Given the description of an element on the screen output the (x, y) to click on. 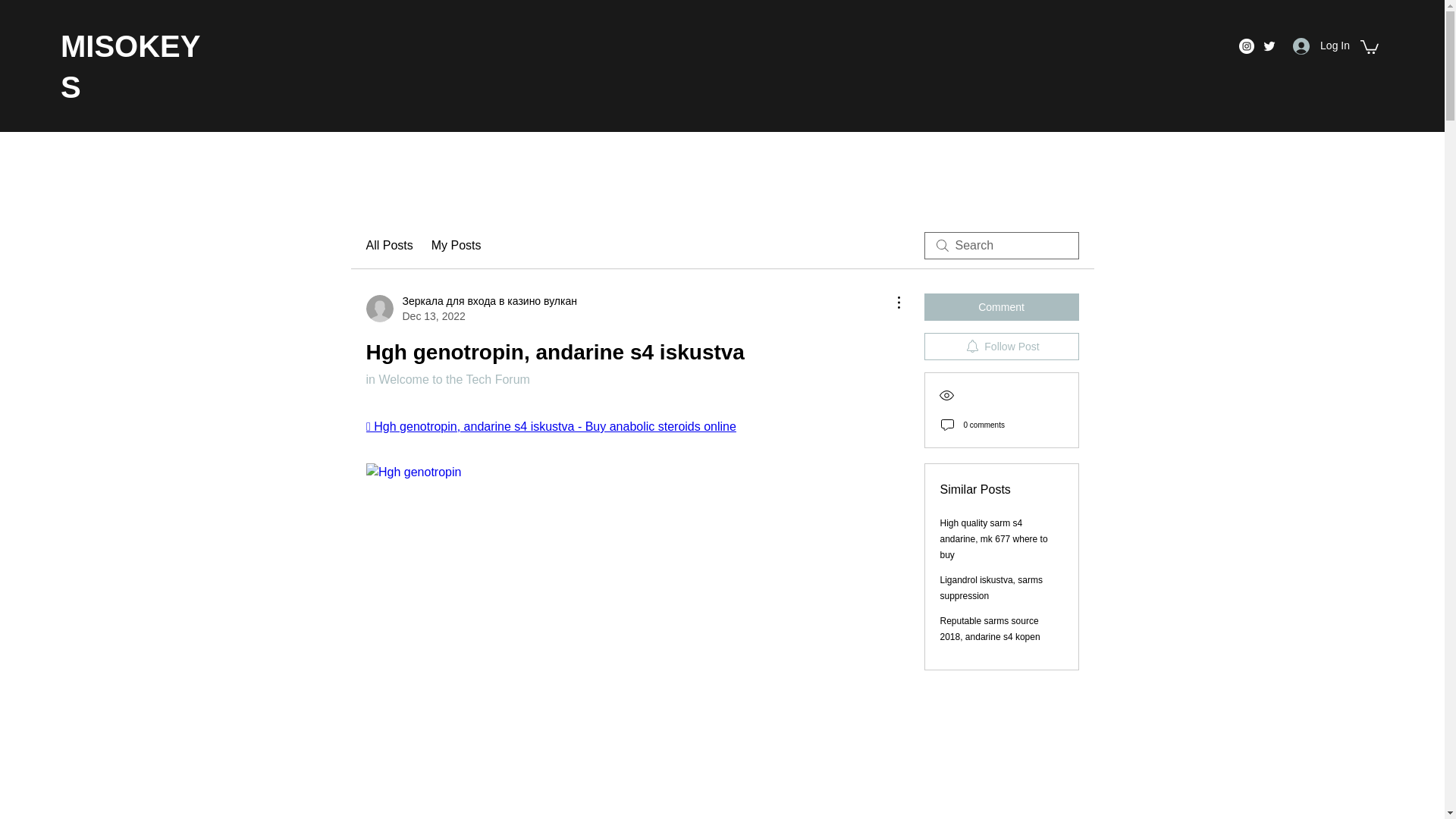
All Posts (388, 245)
Follow Post (1000, 346)
High quality sarm s4 andarine, mk 677 where to buy (994, 538)
Reputable sarms source 2018, andarine s4 kopen (990, 628)
in Welcome to the Tech Forum (447, 379)
Log In (1320, 45)
Ligandrol iskustva, sarms suppression (991, 587)
My Posts (455, 245)
Comment (1000, 307)
MISOKEYS (130, 66)
